Given the description of an element on the screen output the (x, y) to click on. 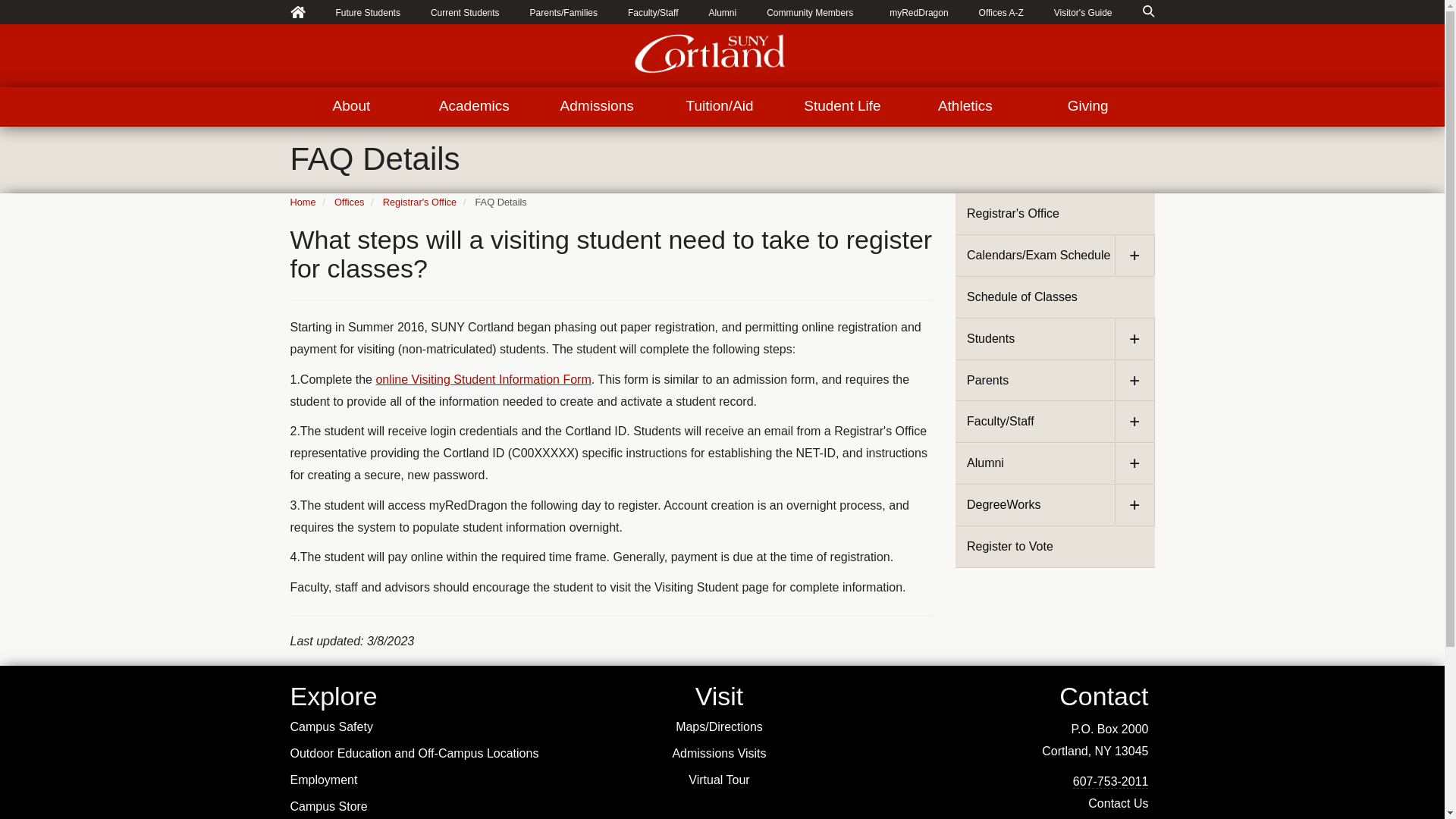
About (350, 105)
Academics (473, 105)
Admissions (596, 105)
